Given the description of an element on the screen output the (x, y) to click on. 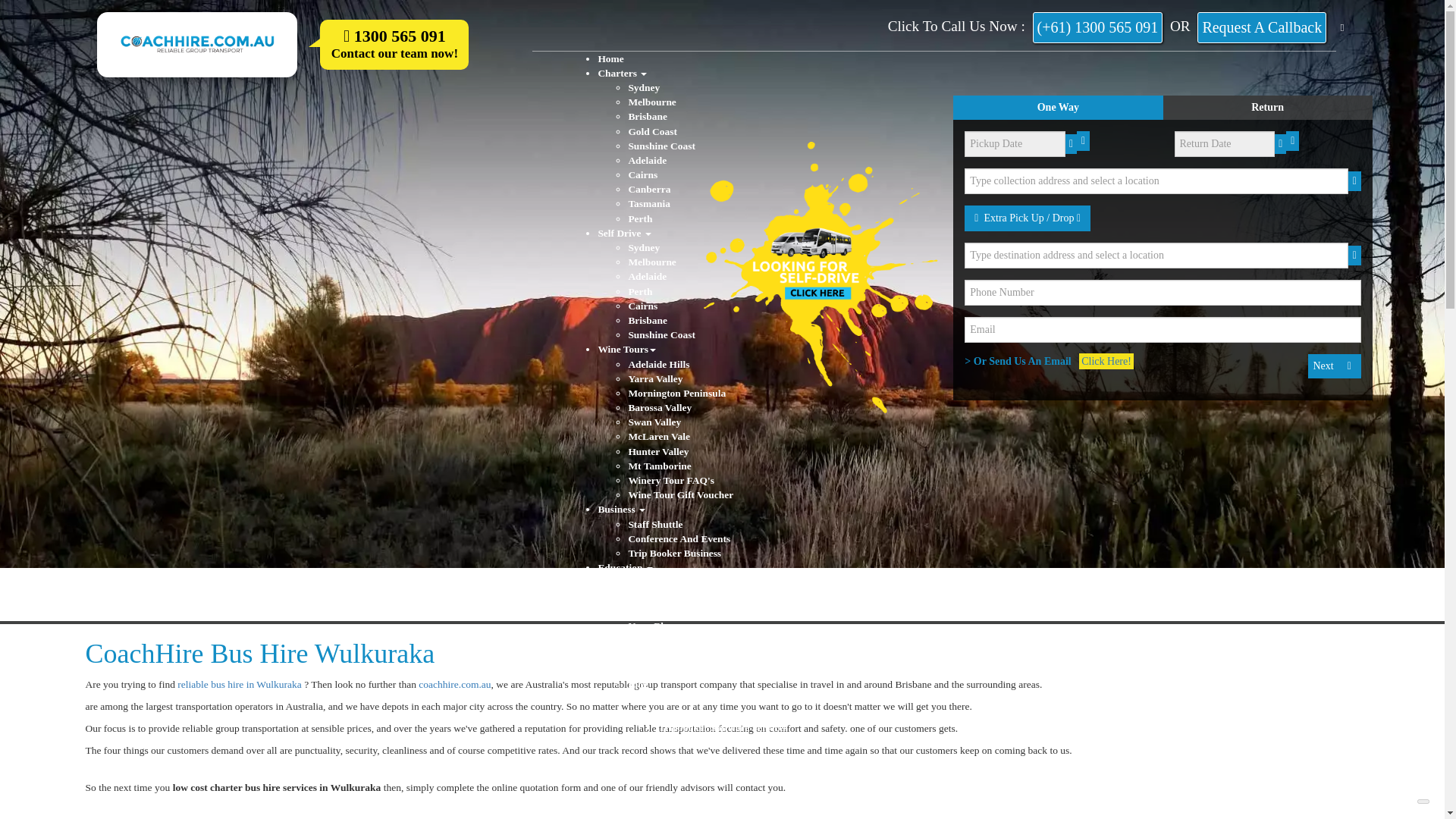
Perth (639, 218)
Winery Tour FAQ'S (670, 480)
Gold Coast (652, 131)
Cairns (642, 174)
Sunshine Coast (661, 334)
Brisbane (646, 319)
Barossa Valley (659, 407)
Melbourne (651, 261)
Sydney (643, 87)
Mt Tamborine (658, 465)
Melbourne (651, 101)
1 (1041, 108)
Swan Valley (654, 421)
2 (1255, 108)
Request A Callback (1261, 27)
